Given the description of an element on the screen output the (x, y) to click on. 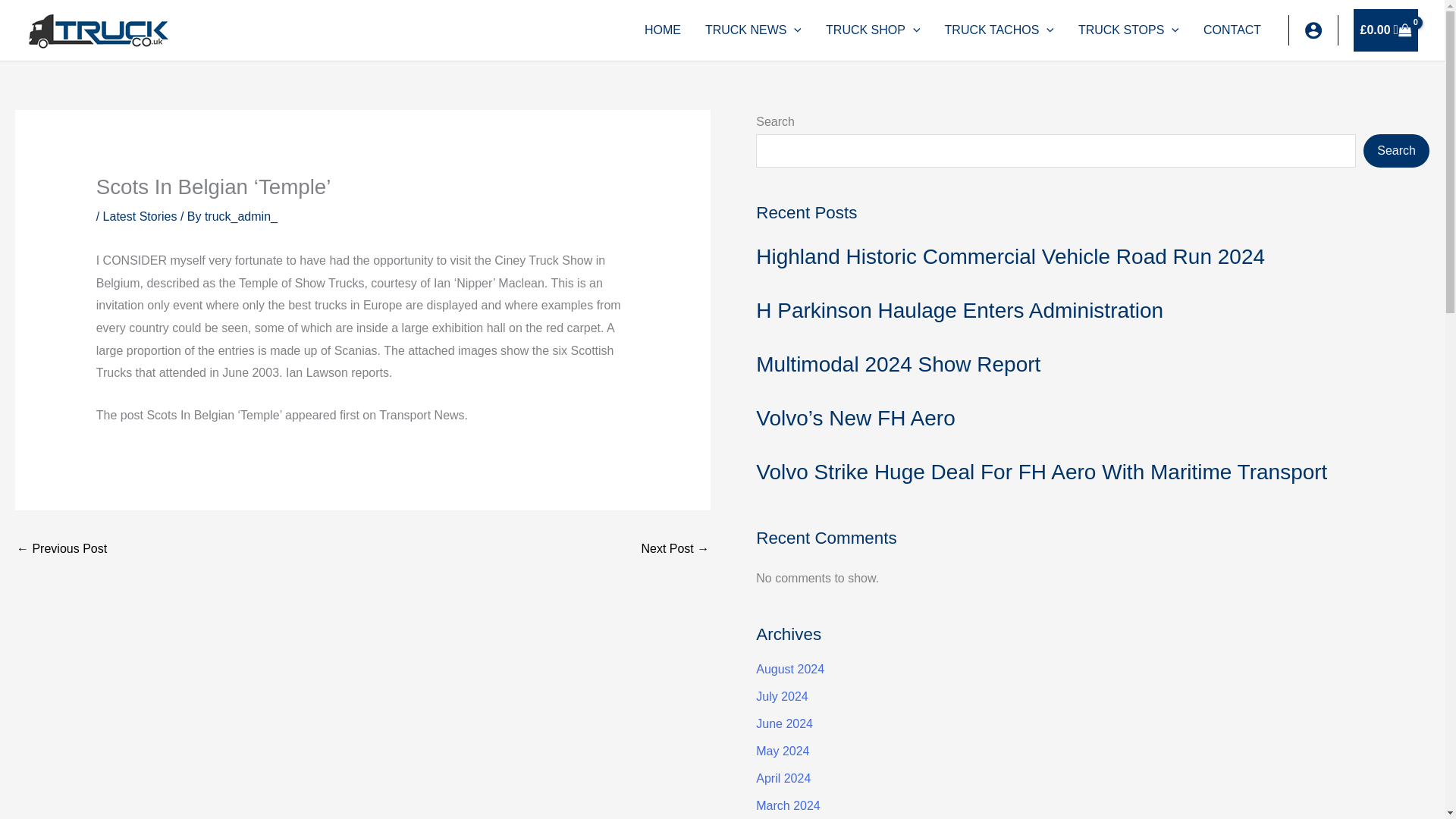
CONTACT (1231, 30)
TRUCK STOPS (1128, 30)
RHA welcomes Labour promise to fast track planning (61, 550)
TRUCK TACHOS (999, 30)
TRUCK NEWS (753, 30)
HOME (662, 30)
TRUCK SHOP (873, 30)
